Given the description of an element on the screen output the (x, y) to click on. 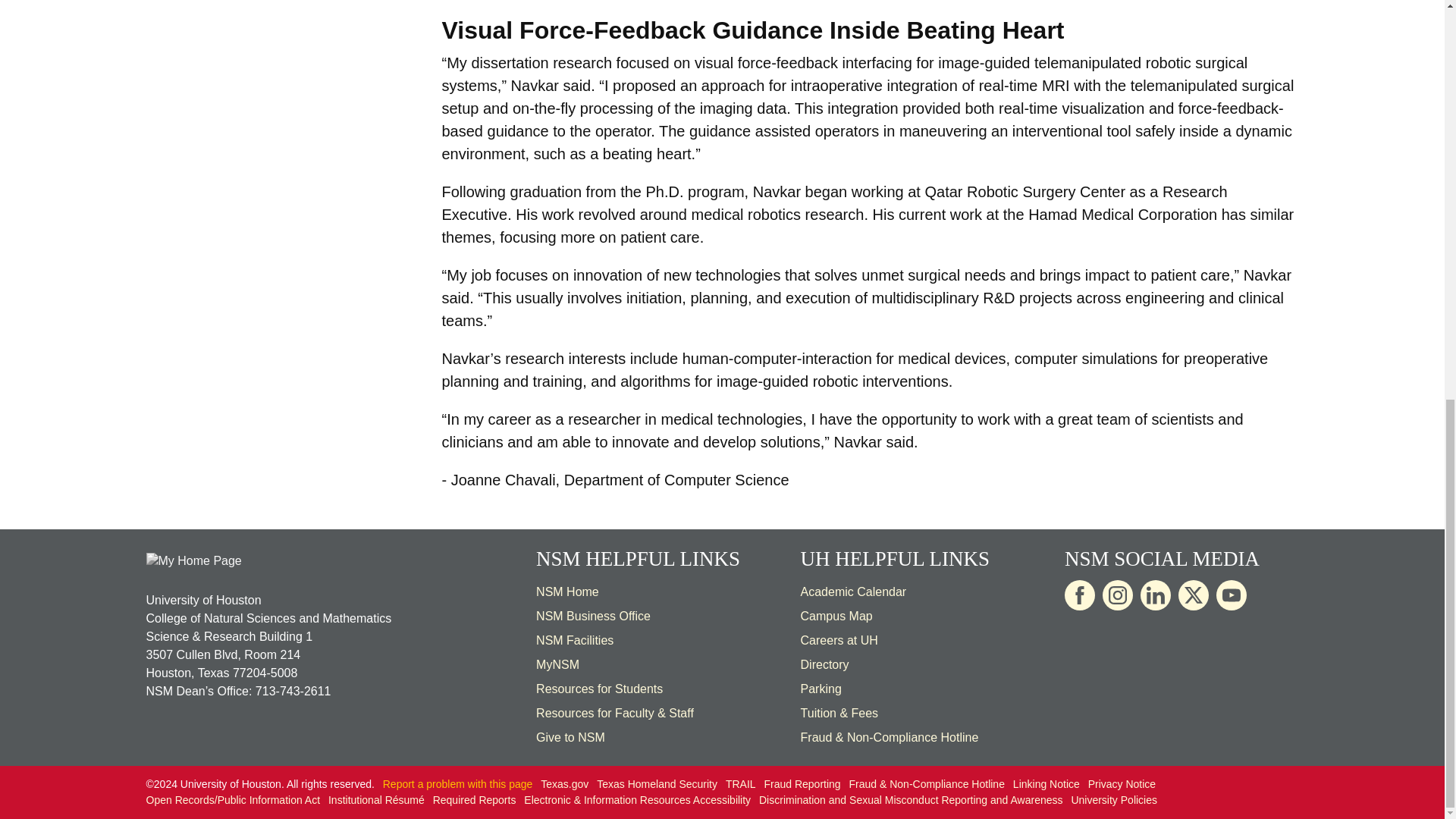
Facebook (1079, 594)
YouTube (1230, 594)
X (1192, 594)
Instagram (1117, 594)
LinkedIn (1155, 594)
